Given the description of an element on the screen output the (x, y) to click on. 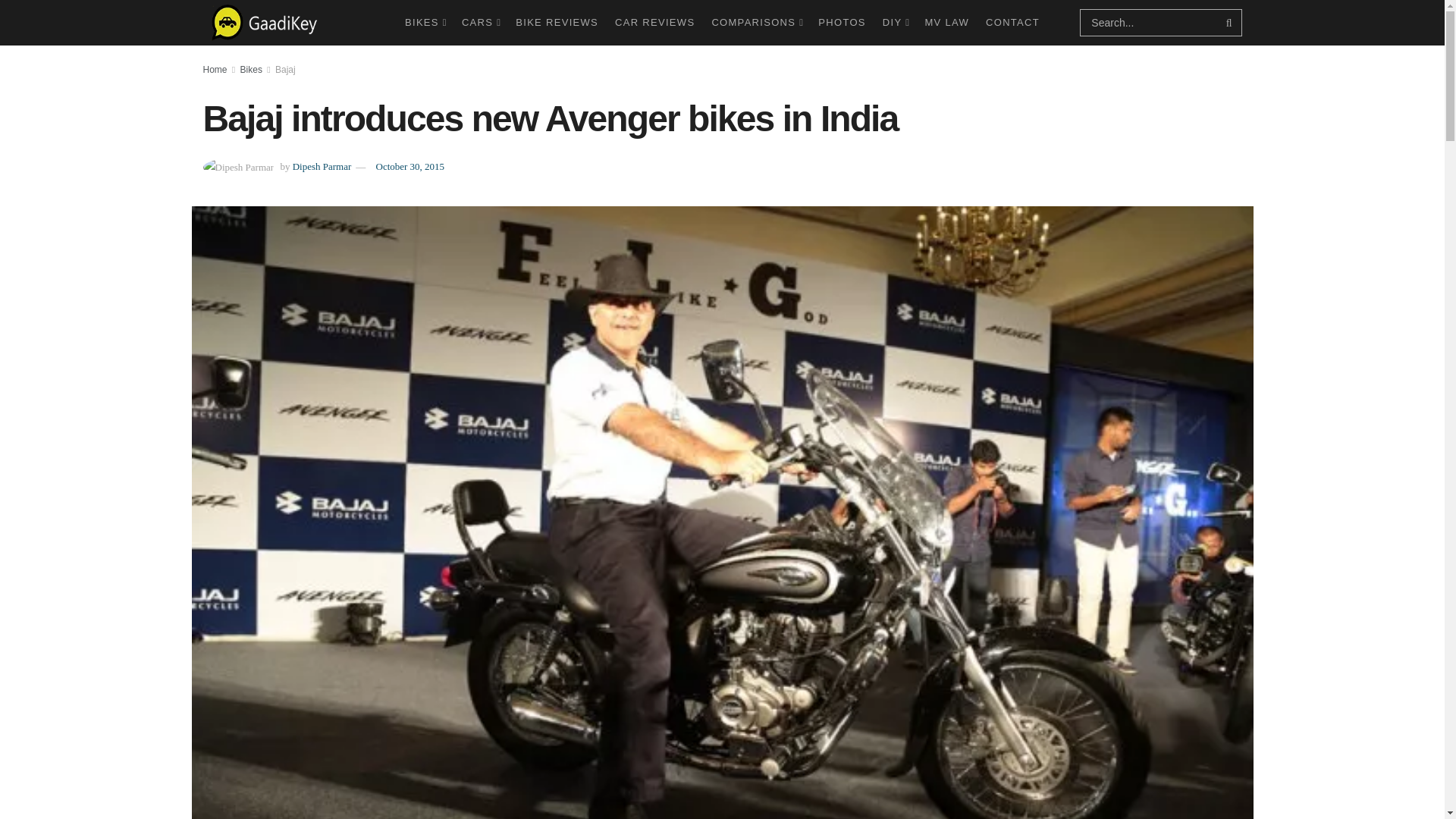
CARS (480, 22)
BIKES (424, 22)
